Given the description of an element on the screen output the (x, y) to click on. 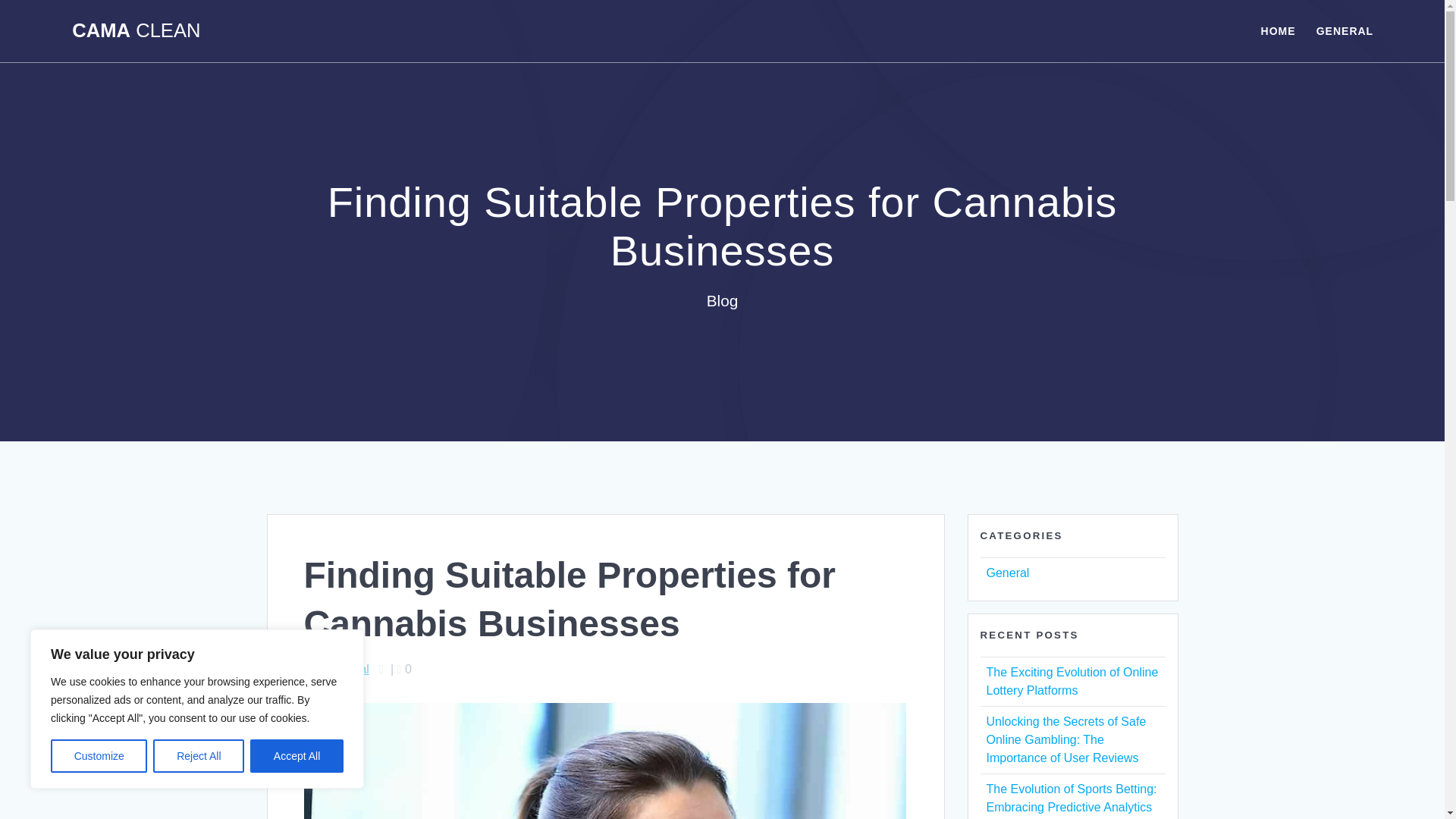
CAMA CLEAN (135, 30)
HOME (1277, 30)
Accept All (296, 756)
The Exciting Evolution of Online Lottery Platforms (1071, 680)
GENERAL (1344, 30)
General (1007, 572)
Reject All (198, 756)
Customize (98, 756)
